Given the description of an element on the screen output the (x, y) to click on. 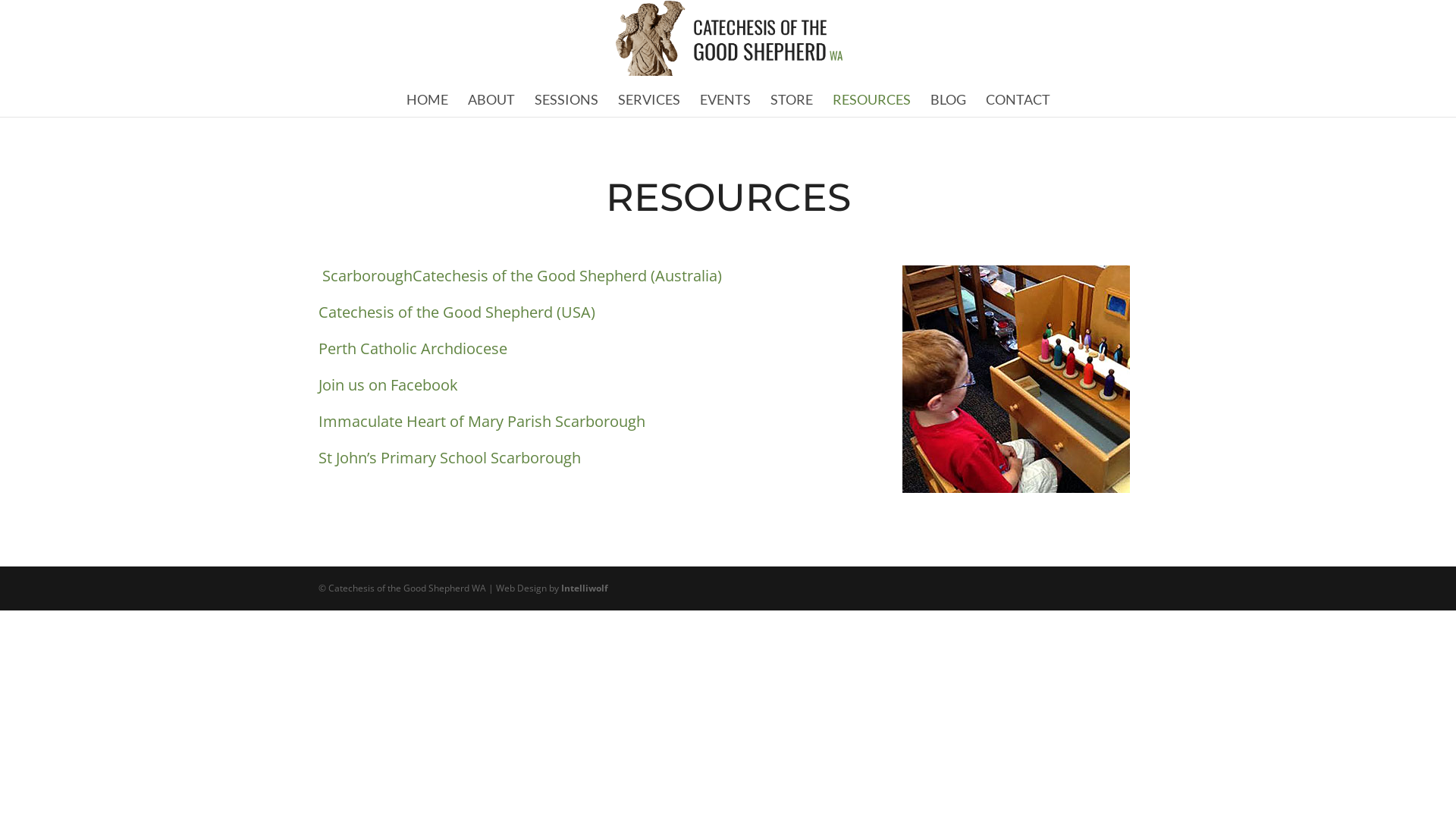
SERVICES Element type: text (648, 98)
EVENTS Element type: text (724, 98)
ABOUT Element type: text (490, 98)
Join us on Facebook Element type: text (388, 384)
RESOURCES Element type: text (871, 98)
CONTACT Element type: text (1017, 98)
Catechesis of the Good Shepherd (USA) Element type: text (456, 311)
HOME Element type: text (427, 98)
Immaculate Heart of Mary Parish Scarborough Element type: text (481, 421)
BLOG Element type: text (947, 98)
Perth Catholic Archdiocese Element type: text (412, 348)
Intelliwolf Element type: text (584, 586)
STORE Element type: text (791, 98)
SESSIONS Element type: text (565, 98)
 ScarboroughCatechesis of the Good Shepherd (Australia) Element type: text (519, 275)
